Given the description of an element on the screen output the (x, y) to click on. 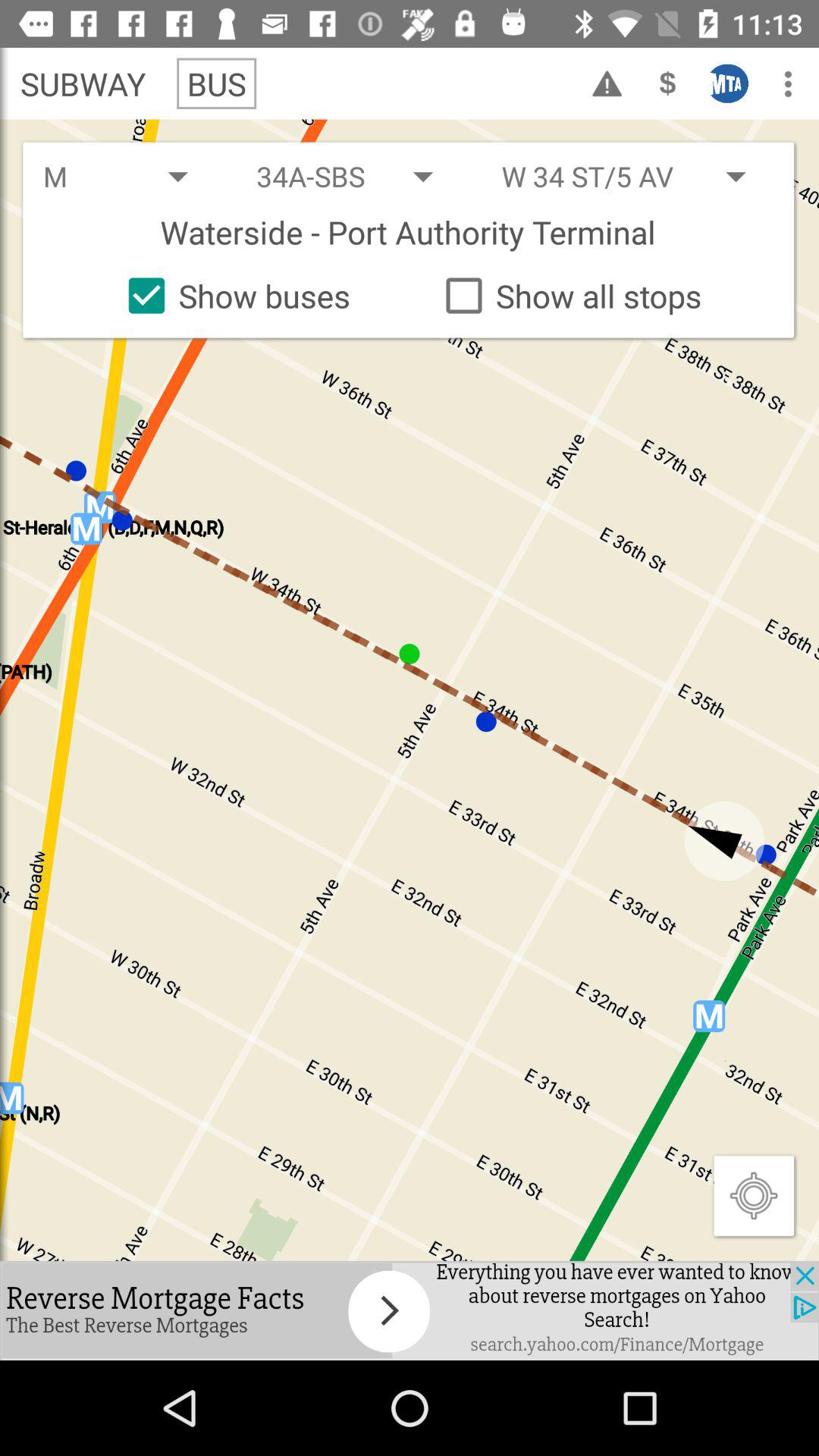
select the second drop down which is above the text watersideport authority terminal (637, 176)
click on the icon top right corner (789, 83)
select the drop down of text 34asbs (358, 176)
select the icon on right side of dollar icon (728, 83)
click on the drop down box which has the text m (129, 176)
click on the option which is right to show buses (566, 295)
select show buses which is below waterside on the page (232, 295)
go to bus (216, 83)
